Given the description of an element on the screen output the (x, y) to click on. 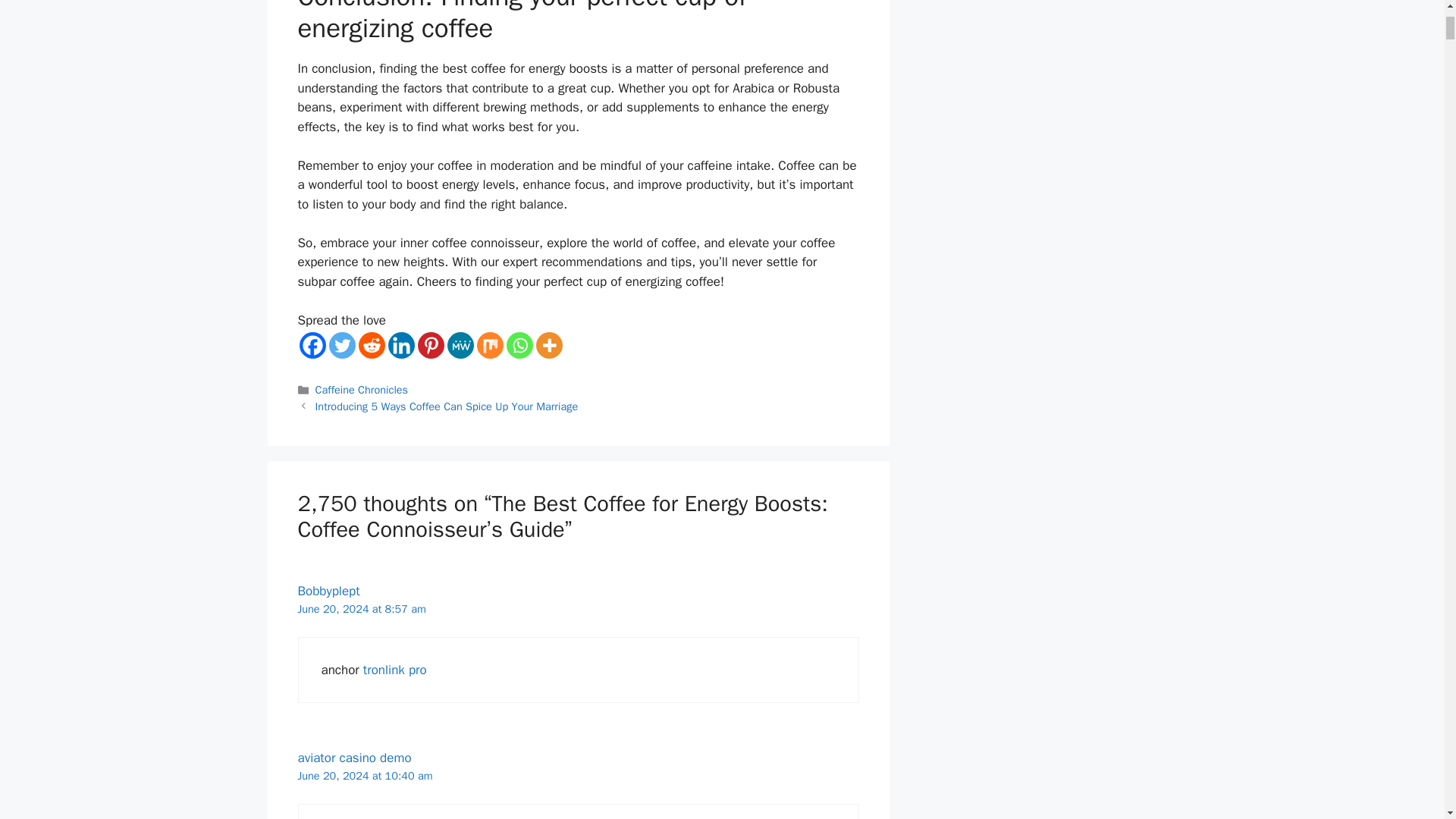
Introducing 5 Ways Coffee Can Spice Up Your Marriage (446, 406)
Caffeine Chronicles (362, 389)
tronlink pro (394, 669)
Bobbyplept (328, 590)
June 20, 2024 at 8:57 am (361, 608)
